Given the description of an element on the screen output the (x, y) to click on. 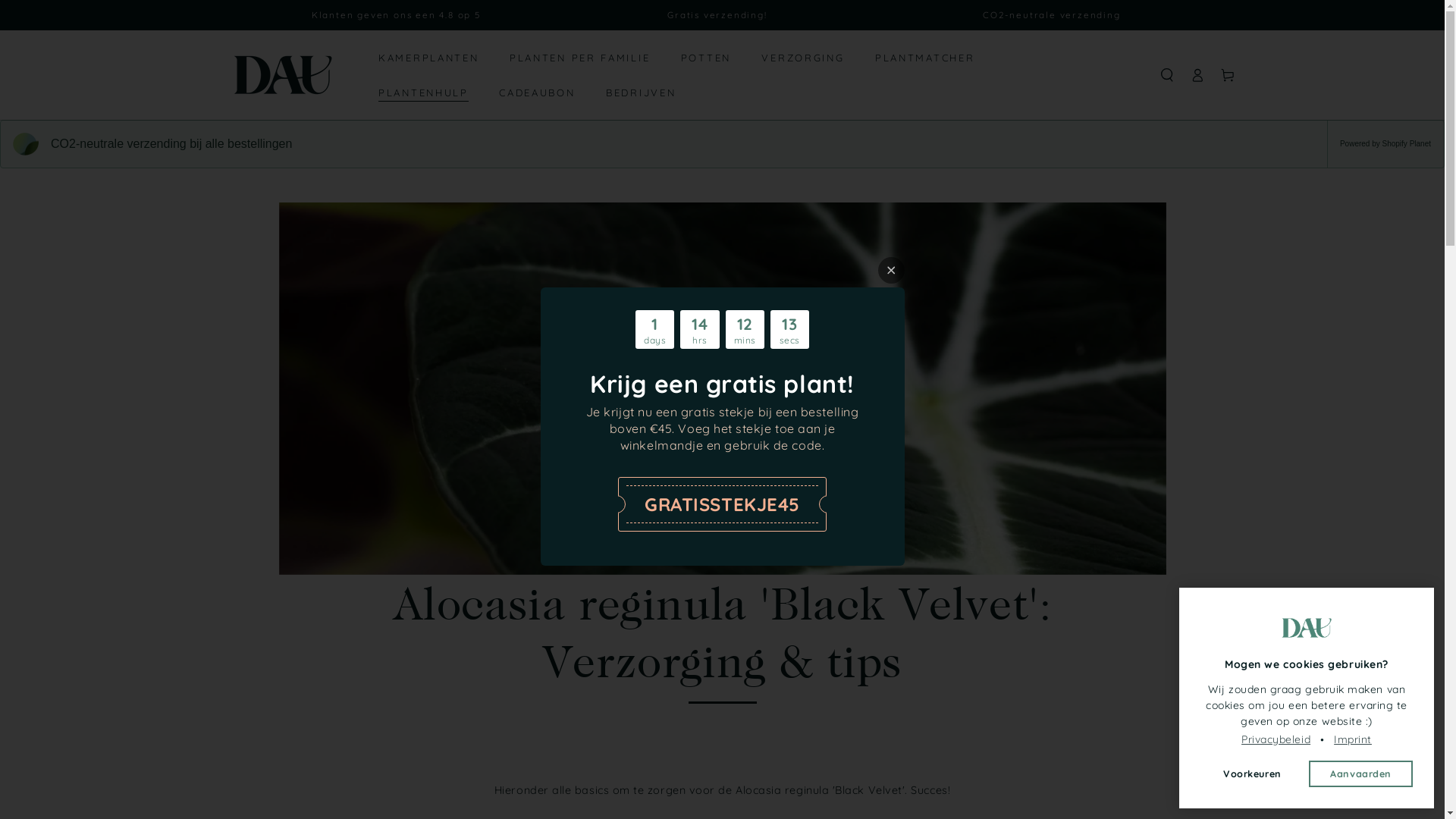
Voorkeuren Element type: text (1252, 773)
PLANTMATCHER Element type: text (924, 57)
PLANTENHULP Element type: text (423, 92)
VERZORGING Element type: text (802, 57)
POTTEN Element type: text (705, 57)
PLANTEN PER FAMILIE Element type: text (578, 57)
BEDRIJVEN Element type: text (641, 92)
Imprint Element type: text (1352, 739)
Aanvaarden Element type: text (1360, 773)
Log in Element type: text (1197, 74)
Privacybeleid Element type: text (1275, 739)
CADEAUBON Element type: text (537, 92)
KAMERPLANTEN Element type: text (428, 57)
